Given the description of an element on the screen output the (x, y) to click on. 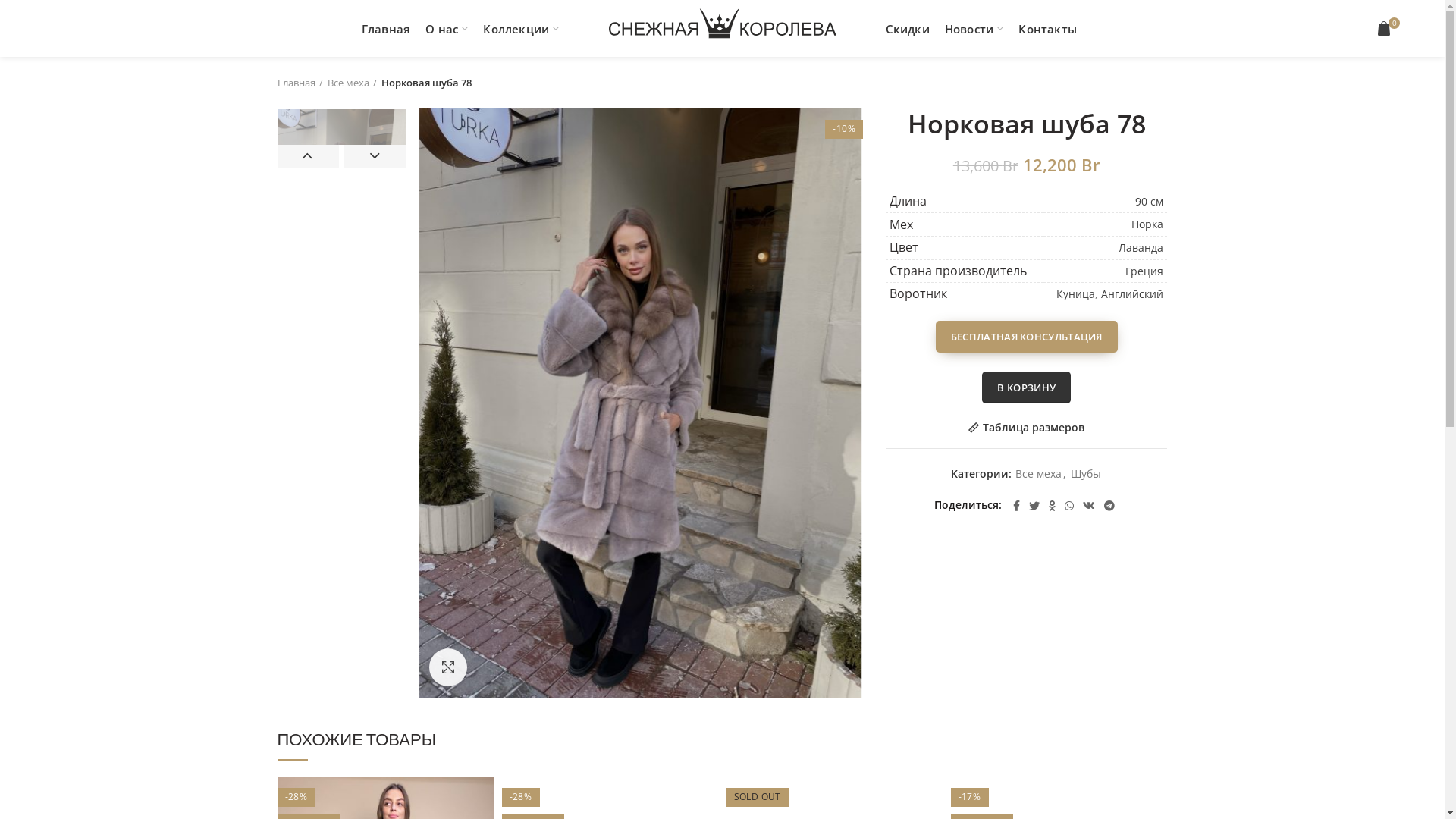
WhatsApp Element type: text (1069, 505)
0 Element type: text (1385, 28)
VK Element type: text (1088, 505)
Telegram Element type: text (1109, 505)
NEXT Element type: text (375, 155)
PREVIOUS Element type: text (308, 155)
Odnoklassniki Element type: text (1052, 505)
IMG_6555-min Element type: hover (640, 402)
Facebook Element type: text (1016, 505)
IMG_6555-min Element type: hover (341, 205)
Twitter Element type: text (1034, 505)
